Given the description of an element on the screen output the (x, y) to click on. 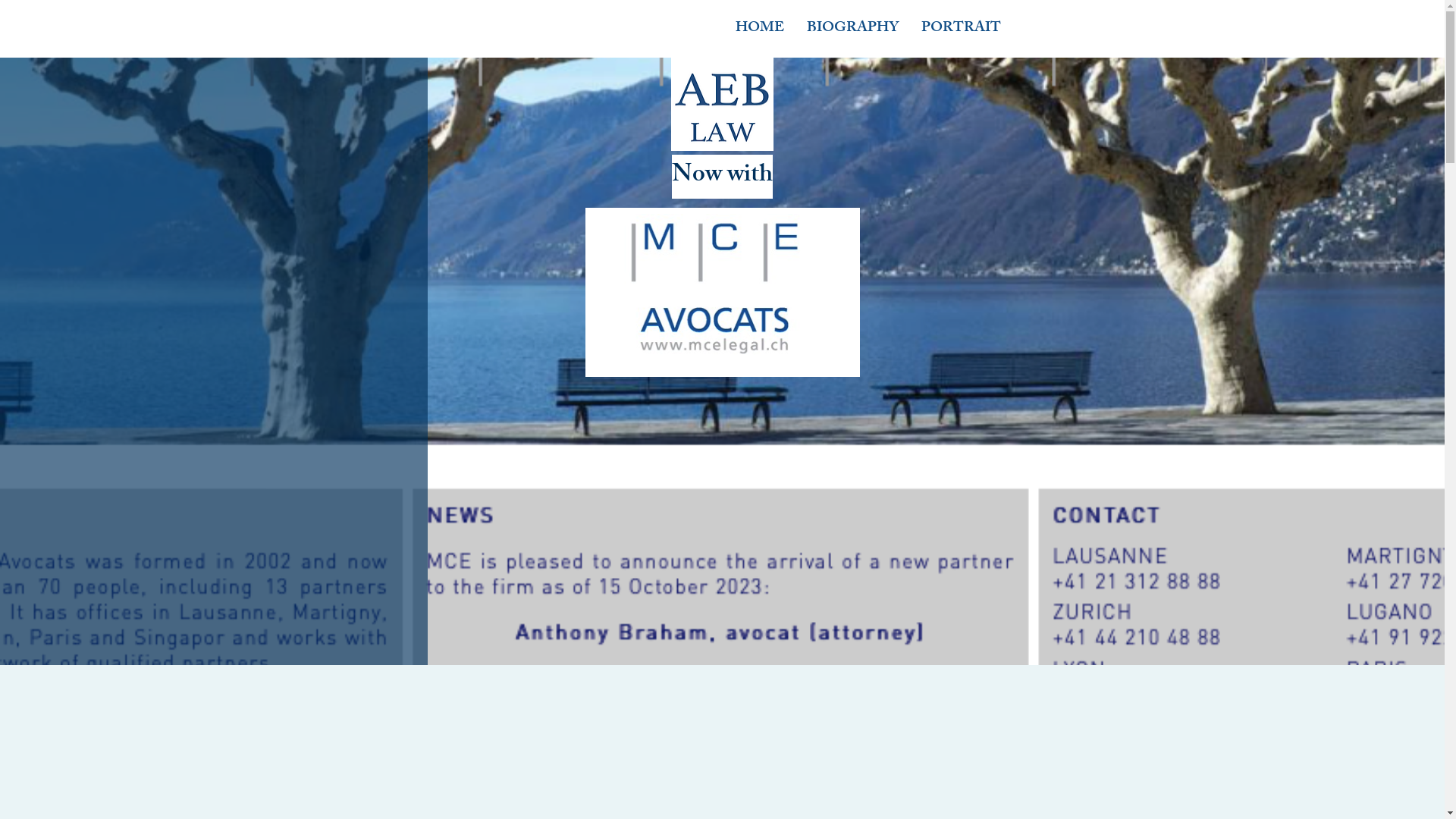
HOME Element type: text (758, 28)
PORTRAIT Element type: text (961, 28)
BIOGRAPHY Element type: text (851, 28)
